Given the description of an element on the screen output the (x, y) to click on. 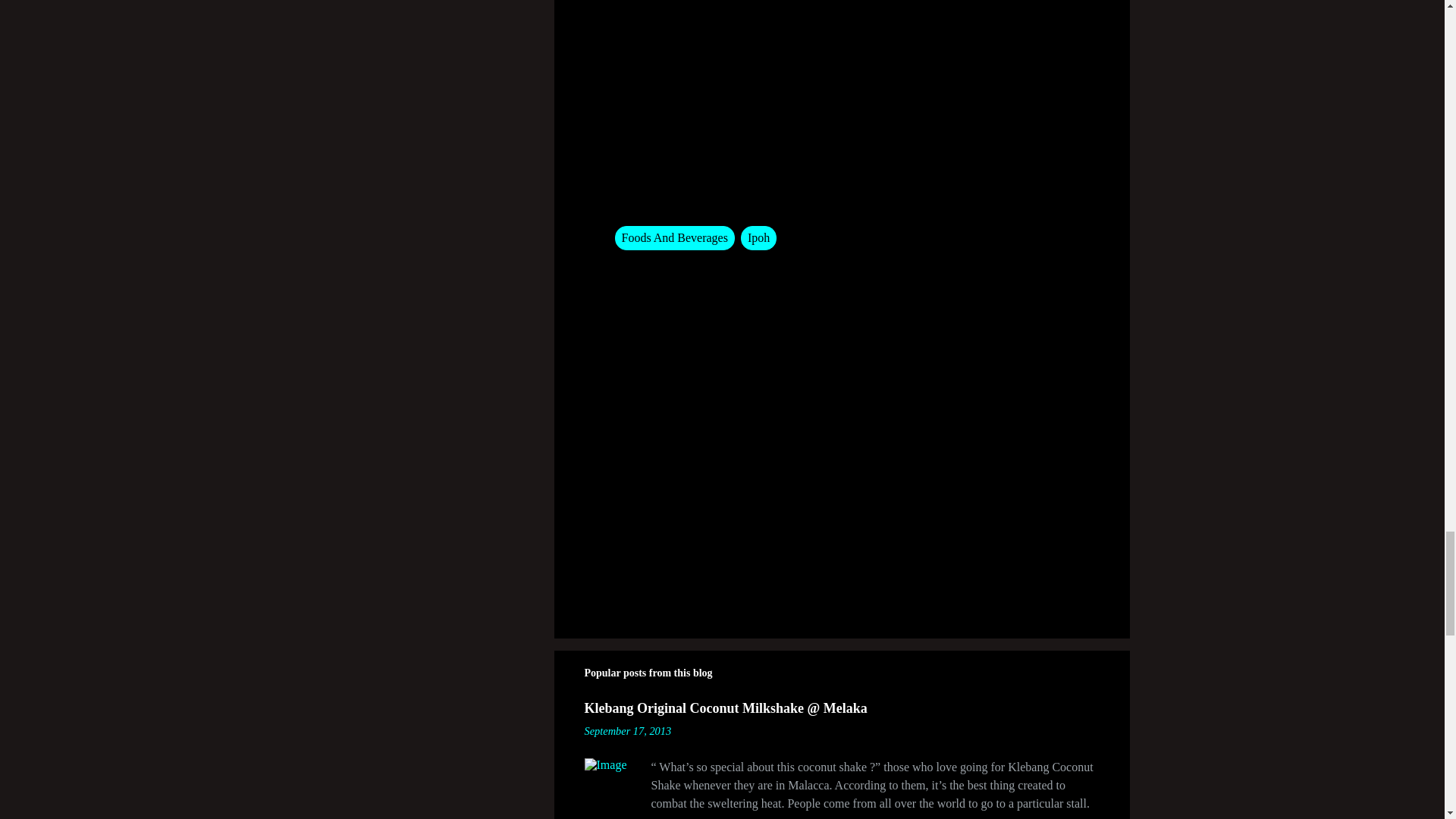
Foods And Beverages (673, 238)
September 17, 2013 (627, 730)
permanent link (627, 730)
Ipoh (758, 238)
